Given the description of an element on the screen output the (x, y) to click on. 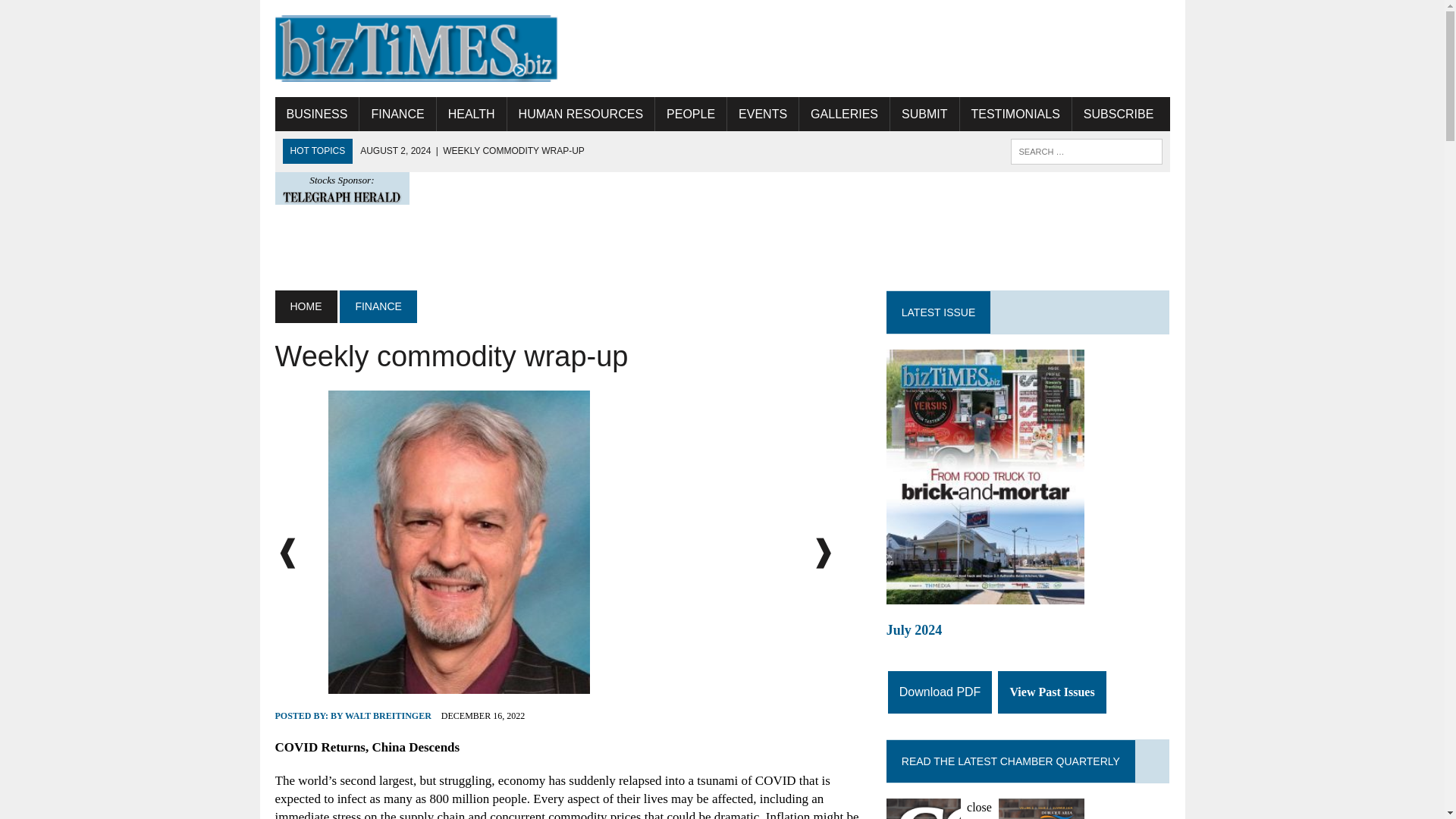
FINANCE (397, 114)
HUMAN RESOURCES (579, 114)
FINANCE (377, 306)
EVENTS (761, 114)
Download PDF (940, 691)
BY WALT BREITINGER (380, 715)
View Past Issues (1051, 691)
BUSINESS (316, 114)
HOME (305, 306)
July 2024 (1028, 625)
Weekly commodity wrap-up (472, 150)
Search (75, 14)
TESTIMONIALS (1015, 114)
PEOPLE (690, 114)
SUBMIT (923, 114)
